Given the description of an element on the screen output the (x, y) to click on. 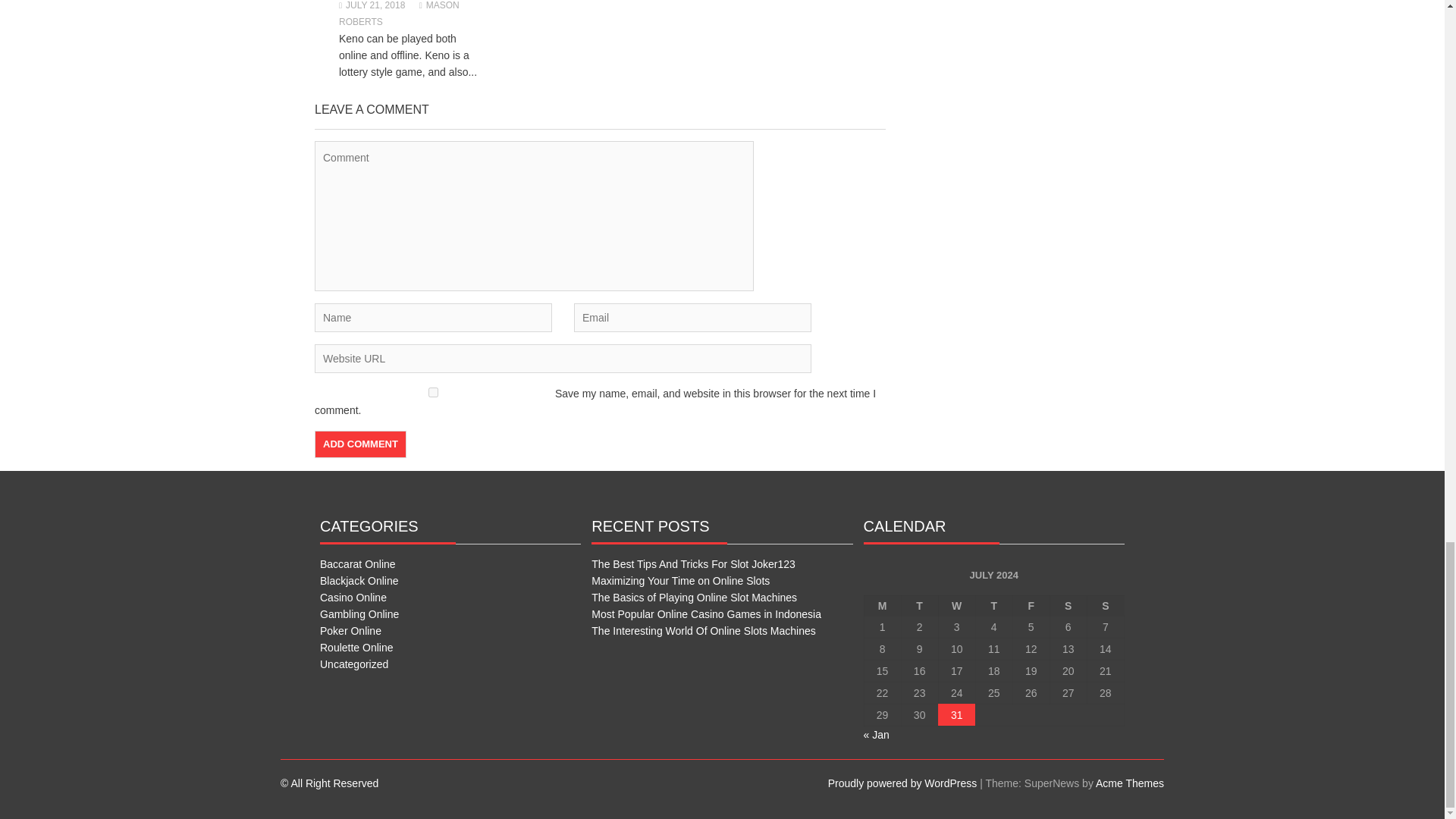
Thursday (993, 605)
Saturday (1067, 605)
Sunday (1105, 605)
yes (432, 392)
MASON ROBERTS (399, 13)
Add Comment (360, 443)
Tuesday (919, 605)
Add Comment (360, 443)
JULY 21, 2018 (371, 5)
Friday (1030, 605)
Monday (882, 605)
Wednesday (956, 605)
